Given the description of an element on the screen output the (x, y) to click on. 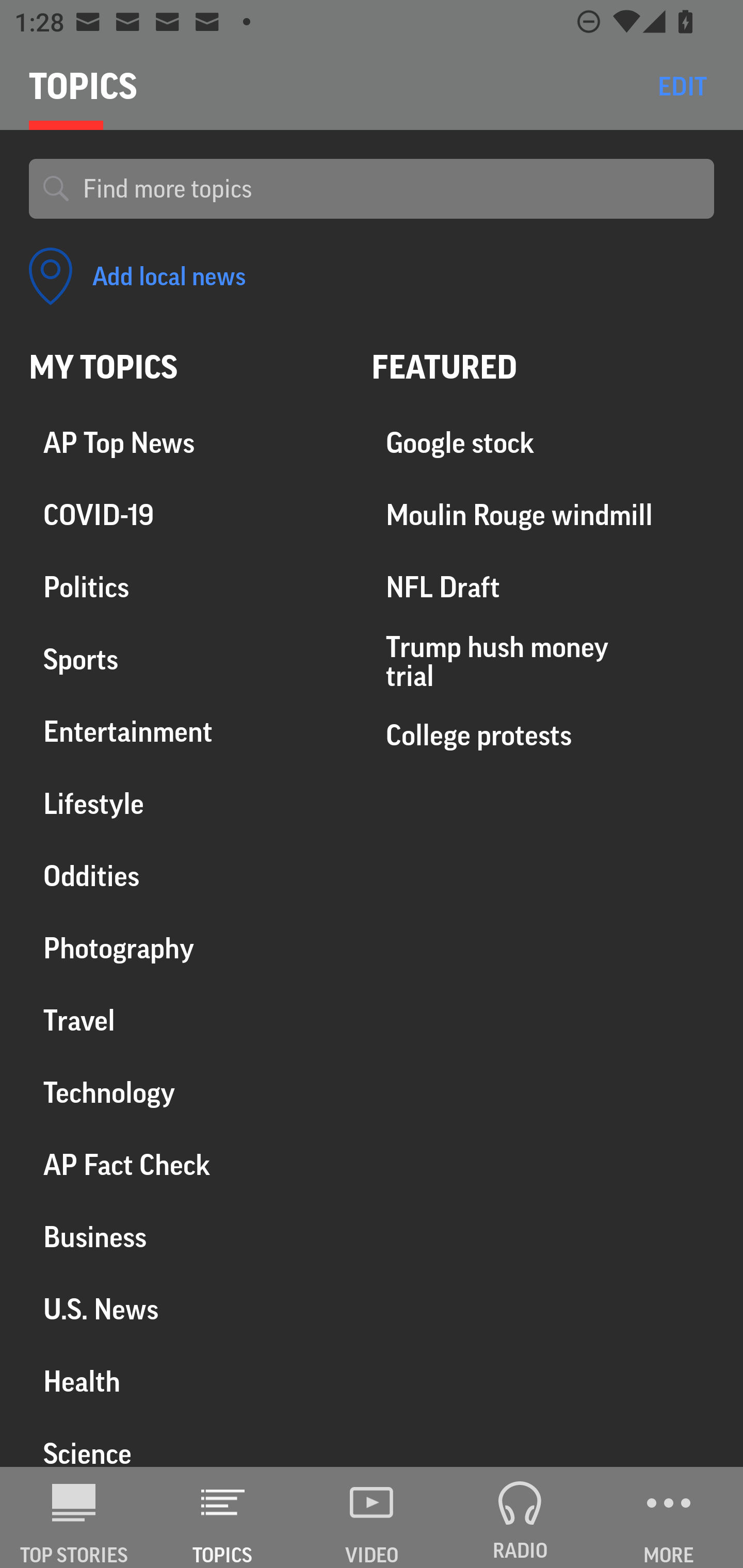
EDIT (682, 86)
Find more topics (391, 188)
Add local news (137, 276)
AP Top News (185, 443)
Google stock (542, 443)
COVID-19 (185, 515)
Moulin Rouge windmill (542, 515)
Politics (185, 587)
NFL Draft (542, 587)
Sports (185, 660)
Trump hush money trial (542, 661)
Entertainment (185, 732)
College protests (542, 735)
Lifestyle (185, 804)
Oddities (185, 876)
Photography (185, 948)
Travel (185, 1020)
Technology (185, 1092)
AP Fact Check (185, 1164)
Business (185, 1237)
U.S. News (185, 1309)
Health (185, 1381)
Science (185, 1442)
AP News TOP STORIES (74, 1517)
TOPICS (222, 1517)
VIDEO (371, 1517)
RADIO (519, 1517)
MORE (668, 1517)
